Given the description of an element on the screen output the (x, y) to click on. 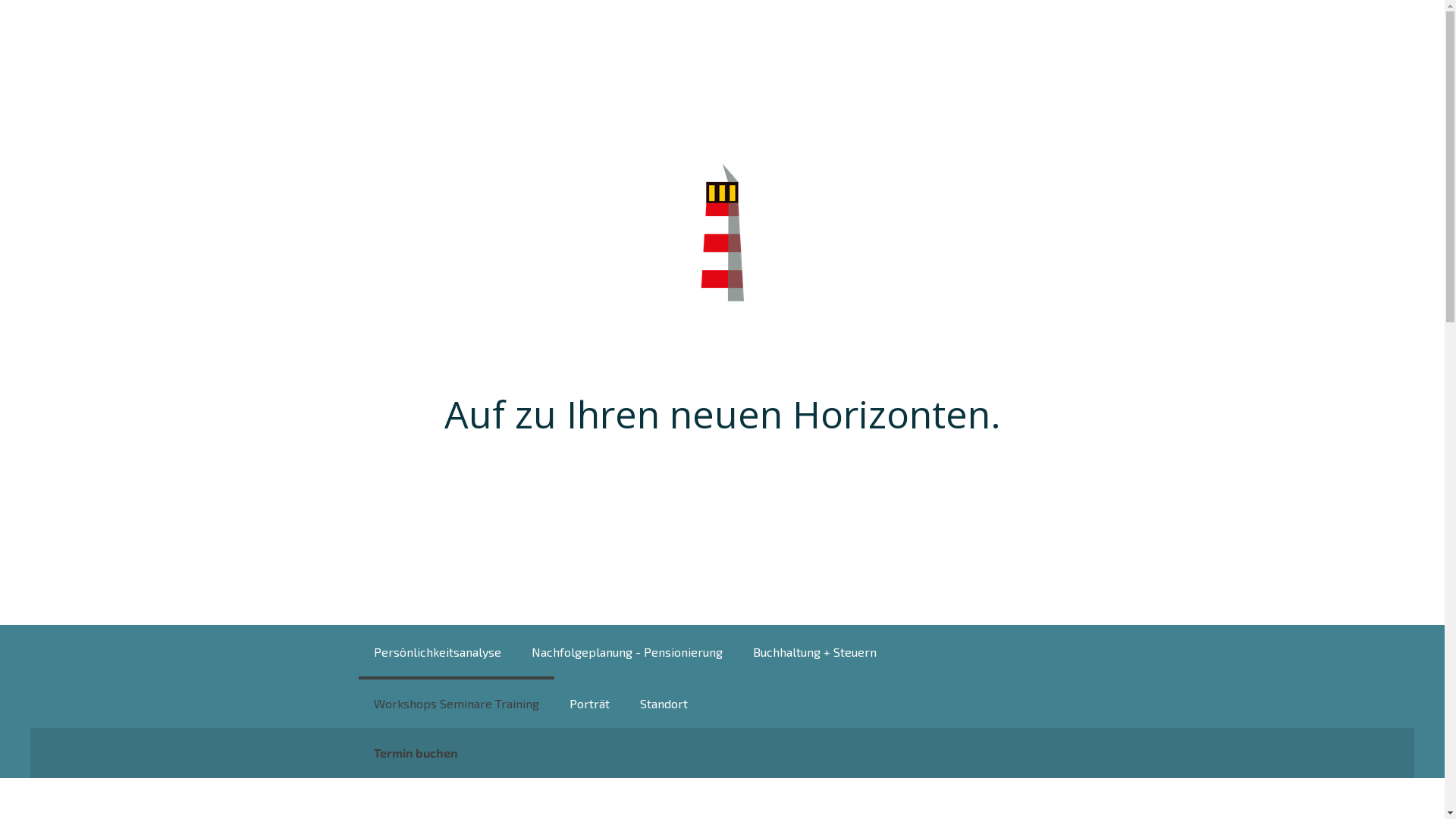
Nachfolgeplanung - Pensionierung Element type: text (626, 650)
Termin buchen Element type: text (414, 752)
Workshops Seminare Training Element type: text (455, 702)
Auf zu Ihren neuen Horizonten. Element type: text (722, 414)
Buchhaltung + Steuern Element type: text (814, 650)
Standort Element type: text (663, 702)
